Given the description of an element on the screen output the (x, y) to click on. 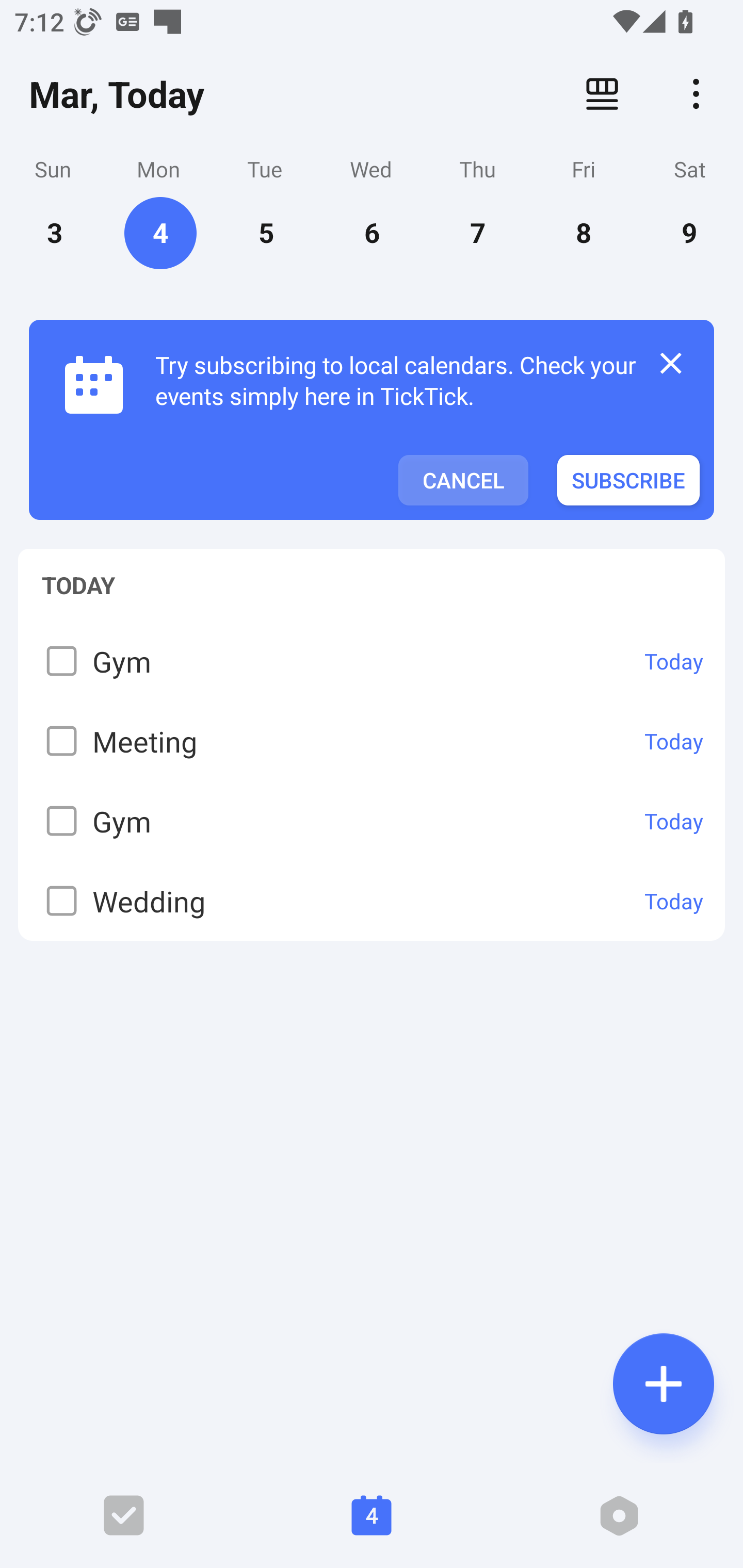
Mar, Today (116, 93)
CANCEL (463, 479)
SUBSCRIBE (628, 479)
TODAY (371, 574)
Gym Today (371, 660)
Today (673, 660)
Meeting Today (371, 740)
Today (673, 740)
Gym Today (371, 820)
Today (673, 820)
Wedding Today (371, 900)
Today (673, 900)
